Given the description of an element on the screen output the (x, y) to click on. 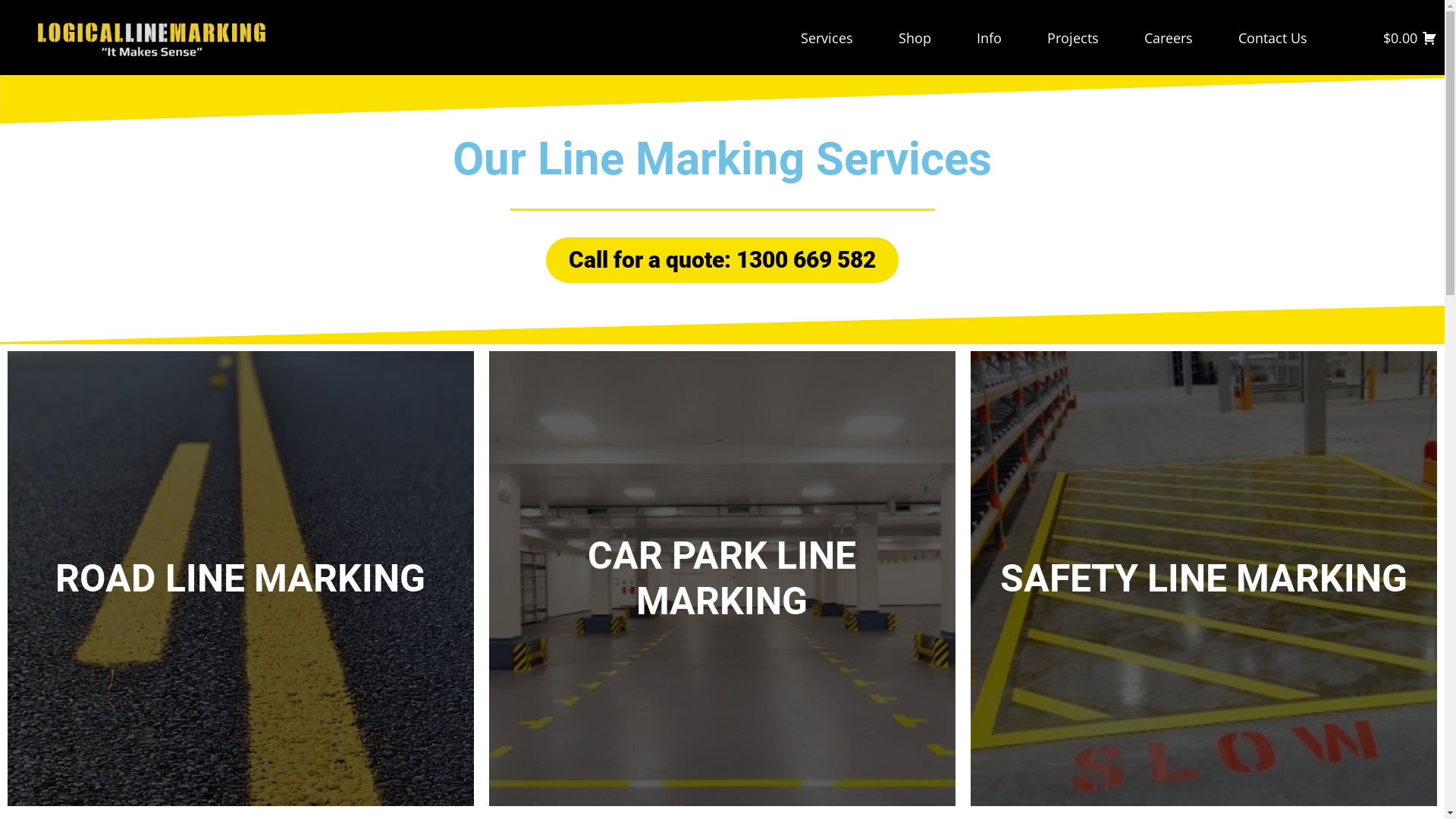
CAR PARK LINE MARKING Element type: text (722, 578)
$0.00 Element type: text (1409, 37)
Shop Element type: text (914, 37)
Projects Element type: text (1072, 37)
ROAD LINE MARKING Element type: text (240, 578)
Call for a quote: 1300 669 582 Element type: text (722, 259)
Careers Element type: text (1168, 37)
Services Element type: text (826, 37)
Contact Us Element type: text (1272, 37)
SAFETY LINE MARKING Element type: text (1203, 578)
Info Element type: text (989, 37)
